Given the description of an element on the screen output the (x, y) to click on. 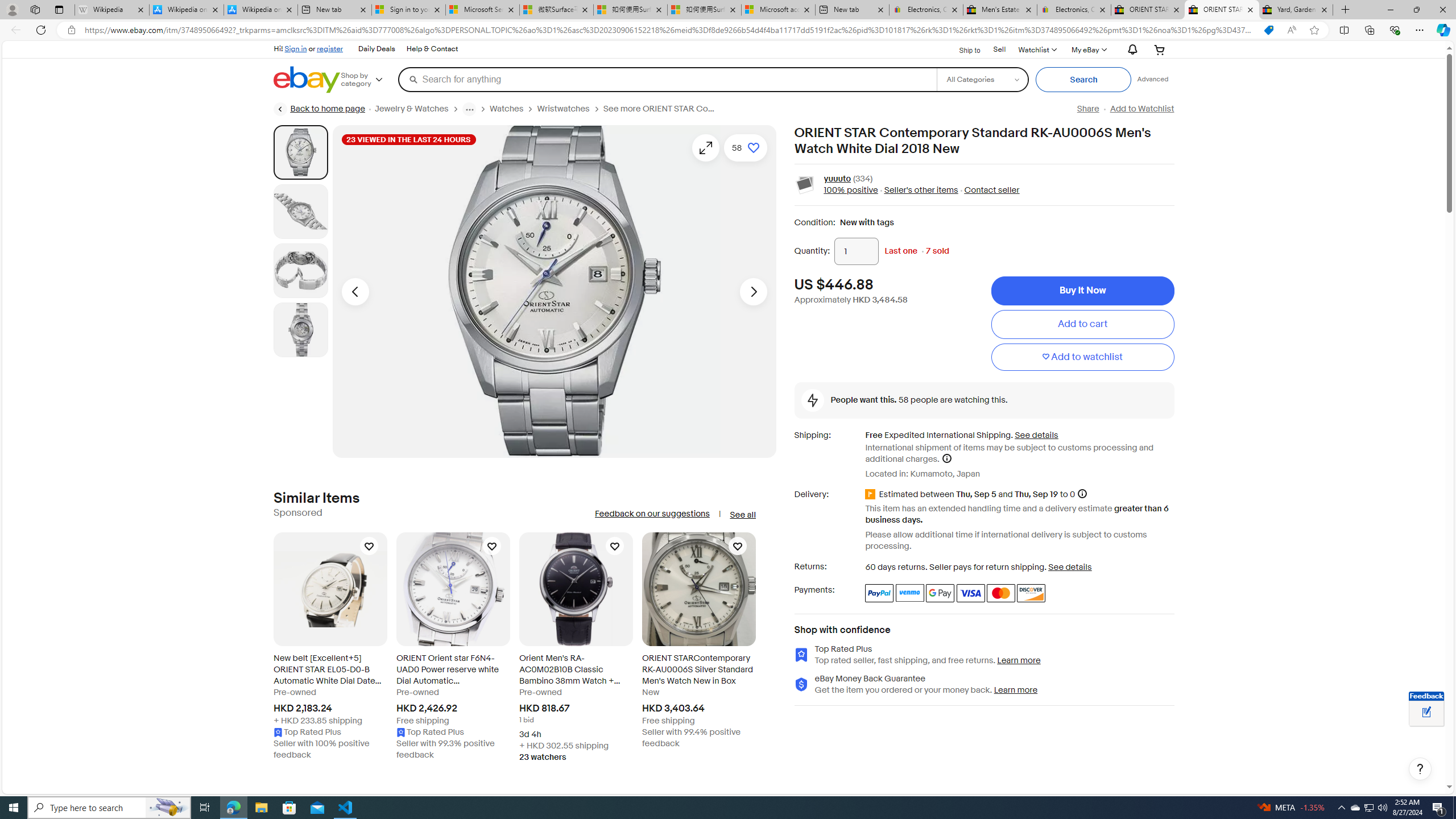
Shipping help - opens a layer (946, 458)
Back to home page (319, 109)
Buy It Now (1082, 290)
PayPal (878, 592)
Picture 2 of 4 (300, 211)
Ship to (962, 48)
eBay Home (306, 79)
